Given the description of an element on the screen output the (x, y) to click on. 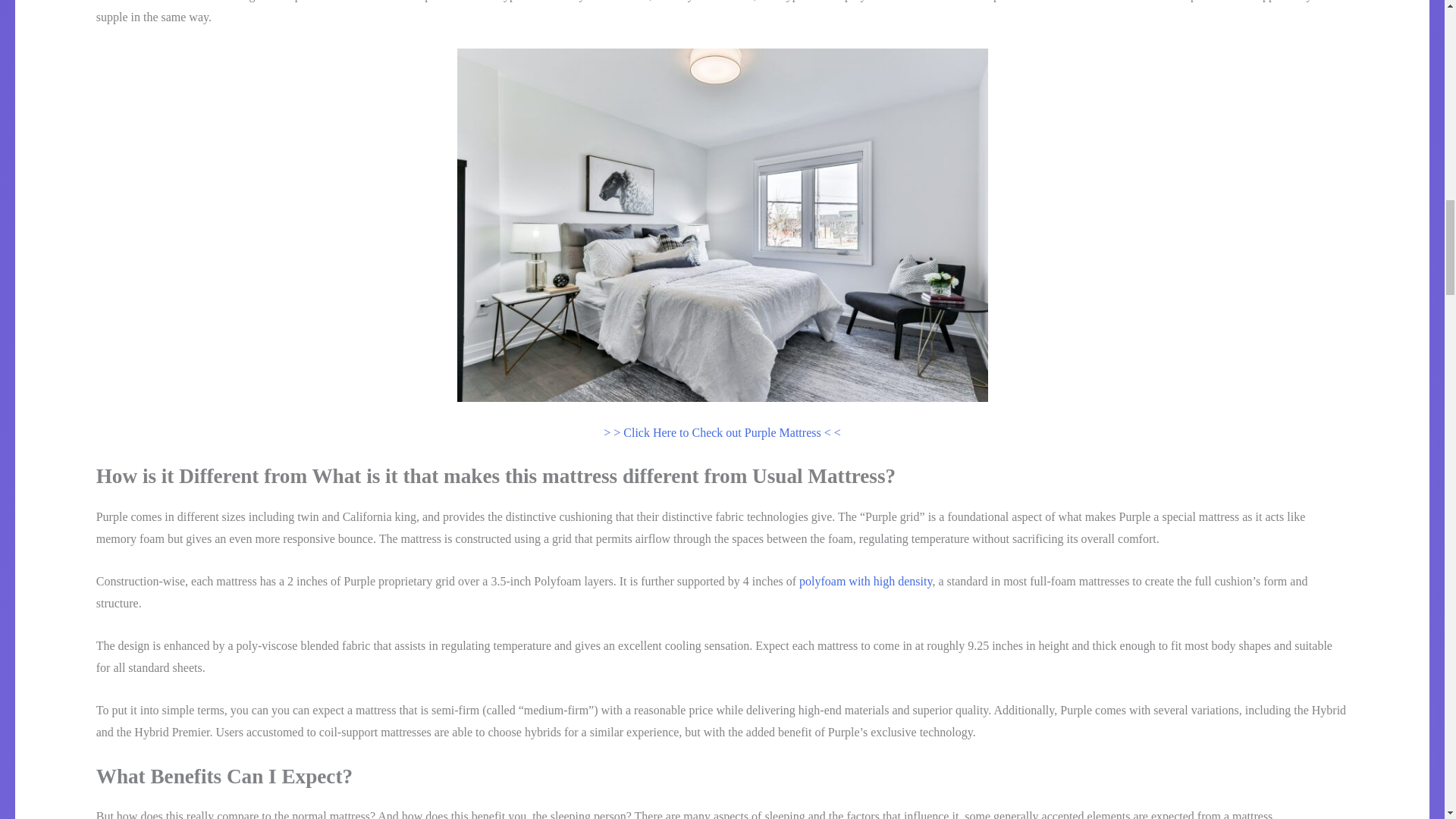
polyfoam with high density (865, 581)
